Given the description of an element on the screen output the (x, y) to click on. 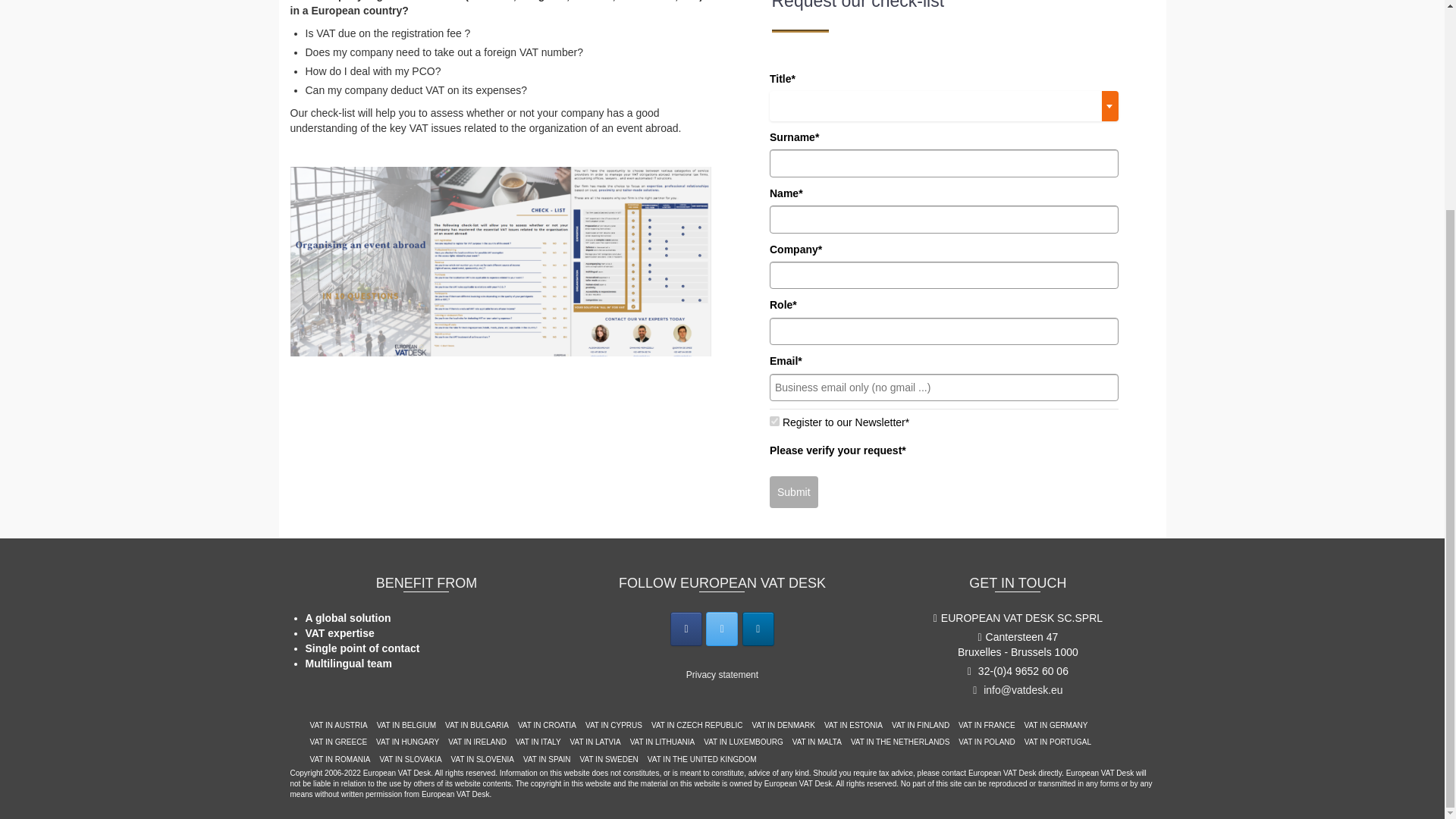
VAT IN CZECH REPUBLIC (697, 725)
VAT IN CYPRUS (613, 725)
VAT IN ESTONIA (852, 725)
VAT IN BELGIUM (406, 725)
European VAT Desk on Linkedin (758, 628)
VAT IN AUSTRIA (337, 725)
VAT IN CROATIA (546, 725)
Submit (794, 491)
European VAT Desk on X Twitter (722, 628)
Privacy statement (721, 674)
